Given the description of an element on the screen output the (x, y) to click on. 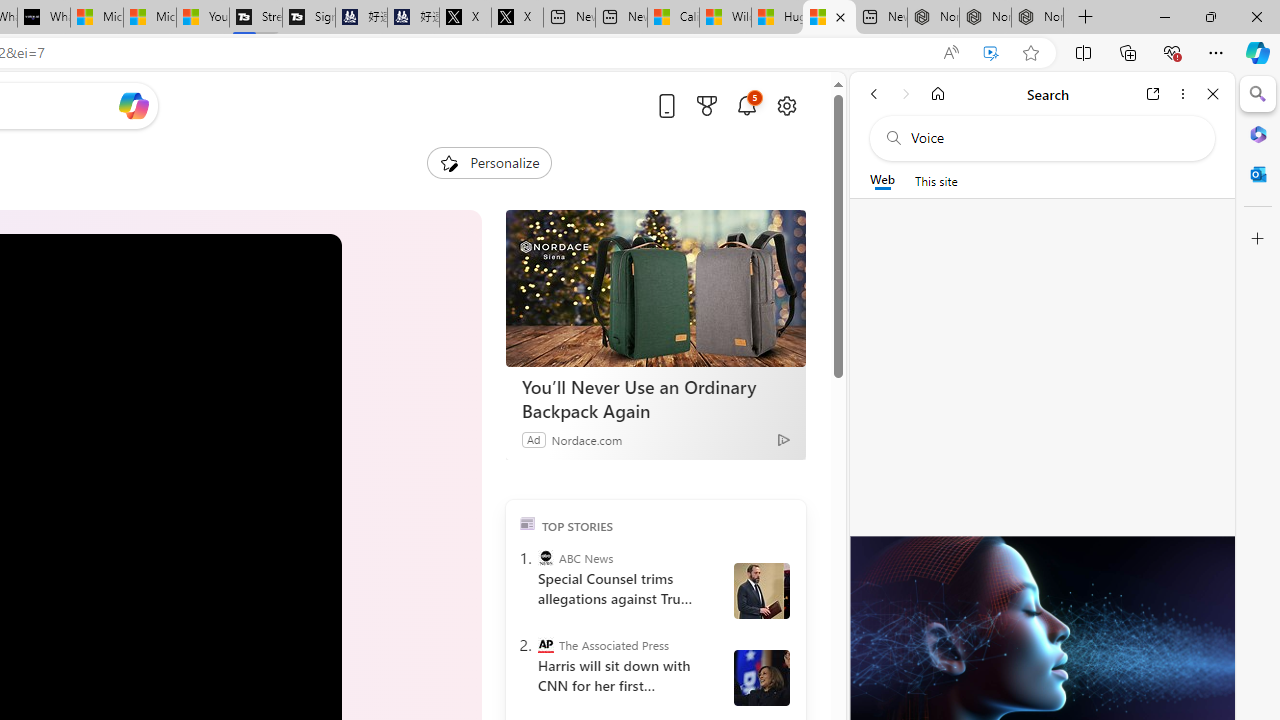
Web scope (882, 180)
Outlook (1258, 174)
Enhance video (991, 53)
